Given the description of an element on the screen output the (x, y) to click on. 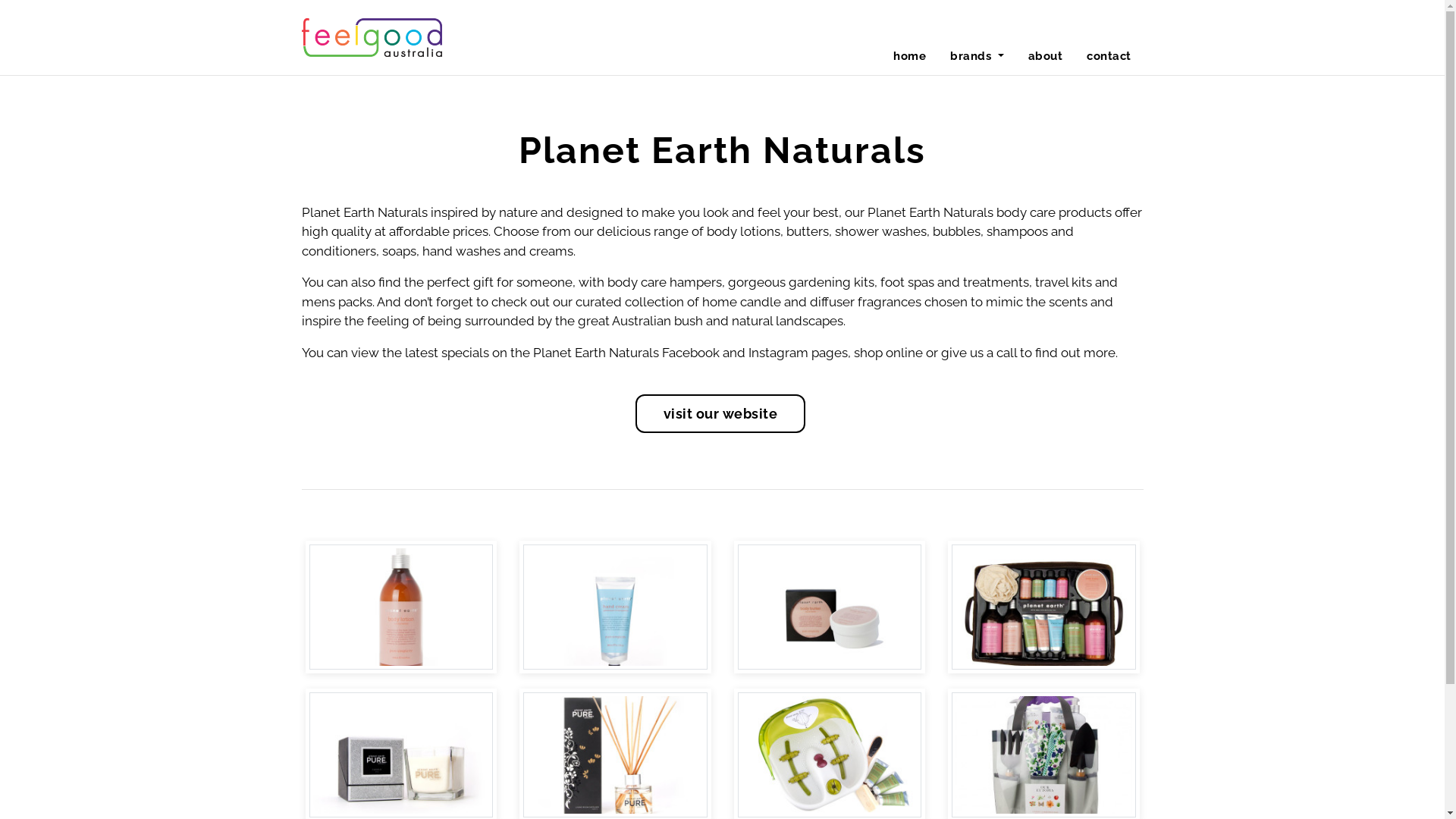
about Element type: text (1045, 56)
contact Element type: text (1108, 56)
visit our website Element type: text (720, 413)
brands Element type: text (976, 56)
home Element type: text (909, 56)
